Given the description of an element on the screen output the (x, y) to click on. 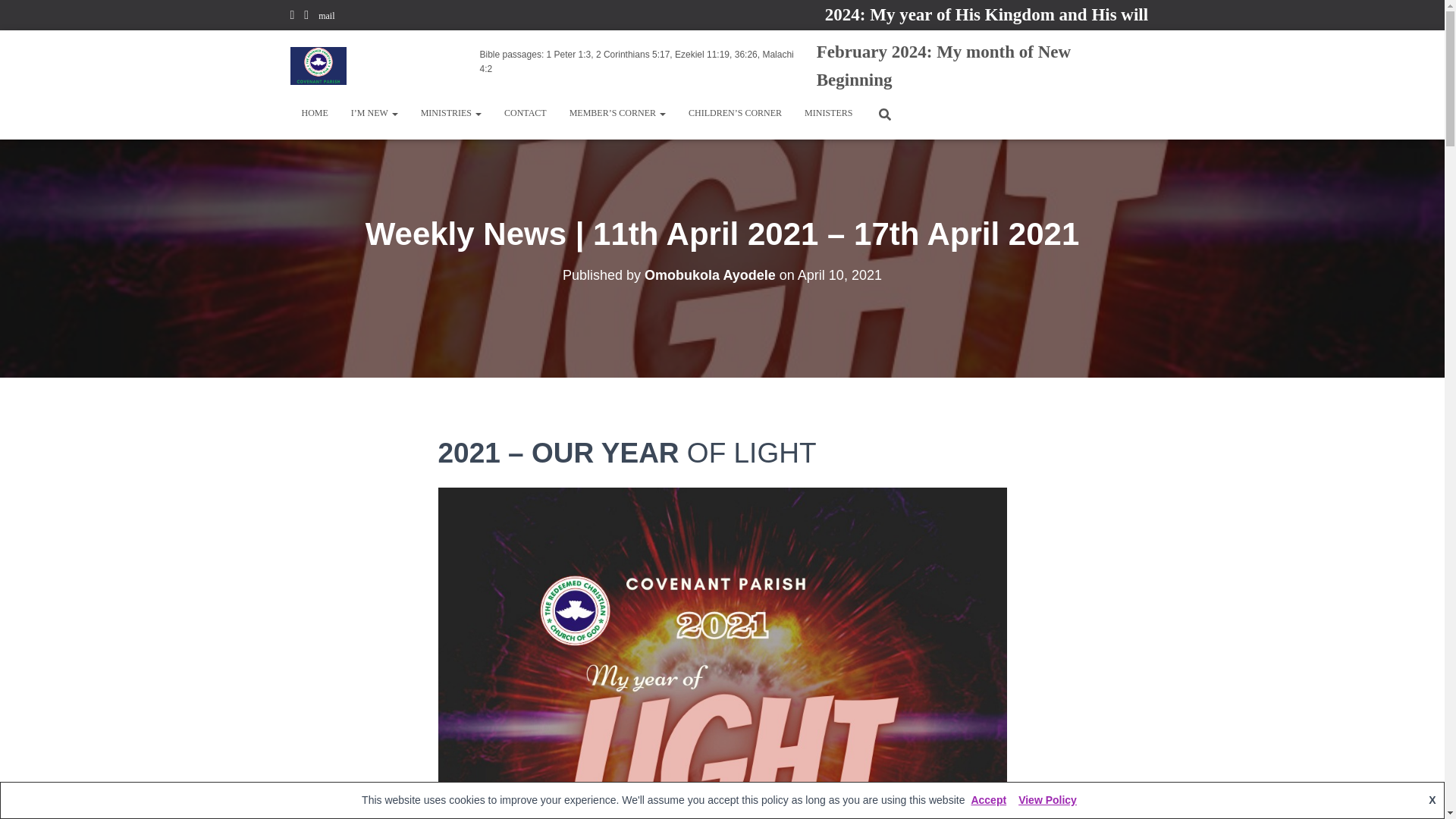
Ministries (451, 112)
Omobukola Ayodele (710, 274)
Covenant Parish (318, 65)
CONTACT (525, 112)
MINISTRIES (451, 112)
HOME (314, 112)
MINISTERS (828, 112)
Home (314, 112)
